Given the description of an element on the screen output the (x, y) to click on. 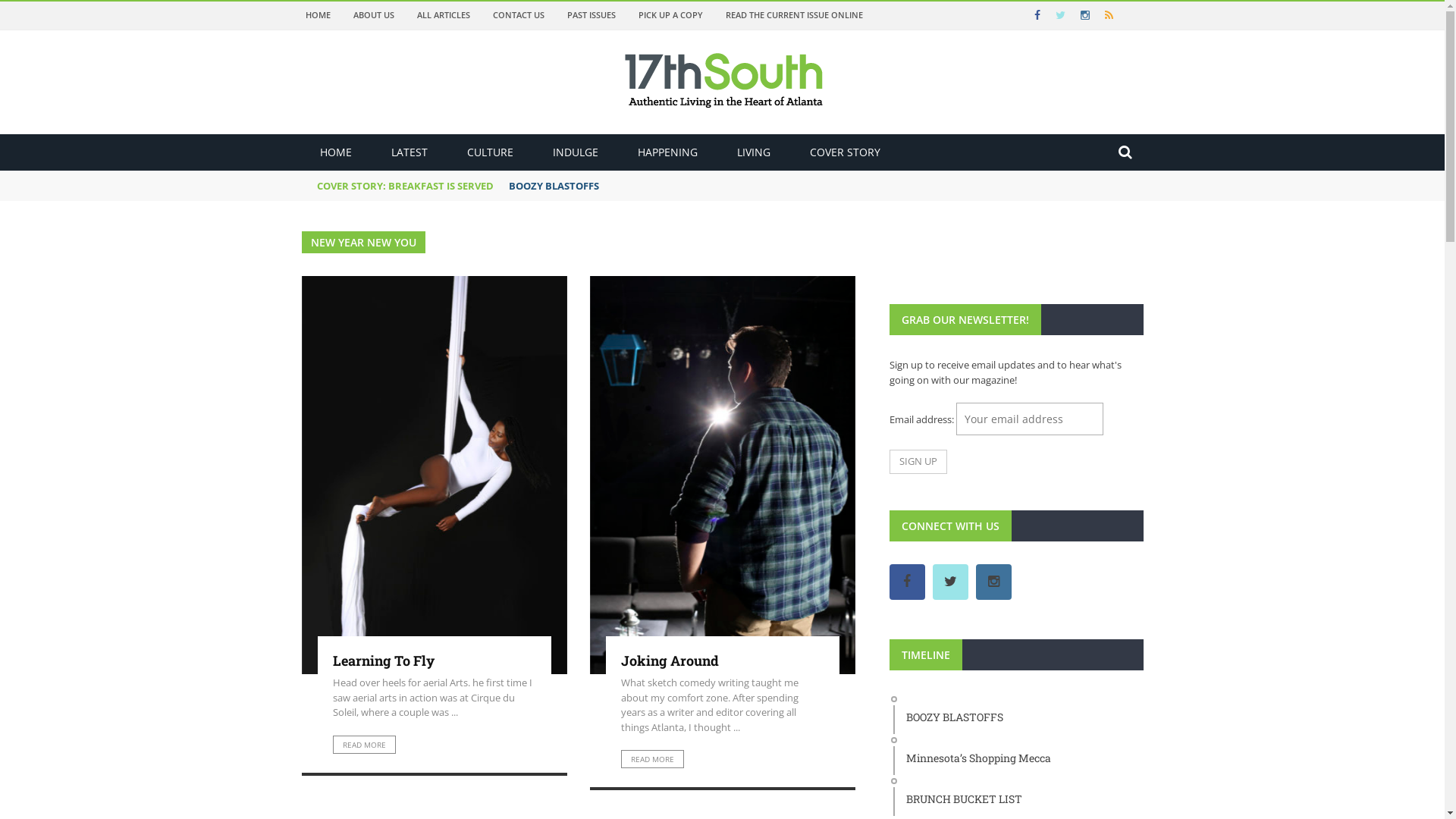
HAPPENING Element type: text (666, 151)
ALL ARTICLES Element type: text (443, 14)
COVER STORY Element type: text (844, 151)
READ MORE Element type: text (651, 758)
Joking Around Element type: text (669, 660)
CULTURE Element type: text (489, 151)
BOOZY BLASTOFFS Element type: text (1018, 713)
HOME Element type: text (316, 14)
INDULGE Element type: text (574, 151)
LIVING Element type: text (753, 151)
PICK UP A COPY Element type: text (670, 14)
READ MORE Element type: text (363, 744)
LATEST Element type: text (409, 151)
READ THE CURRENT ISSUE ONLINE Element type: text (793, 14)
Learning To Fly Element type: text (382, 660)
PAST ISSUES Element type: text (591, 14)
HOME Element type: text (335, 151)
BRUNCH BUCKET LIST Element type: text (1018, 795)
Sign up Element type: text (917, 461)
CONTACT US Element type: text (518, 14)
ABOUT US Element type: text (373, 14)
